Given the description of an element on the screen output the (x, y) to click on. 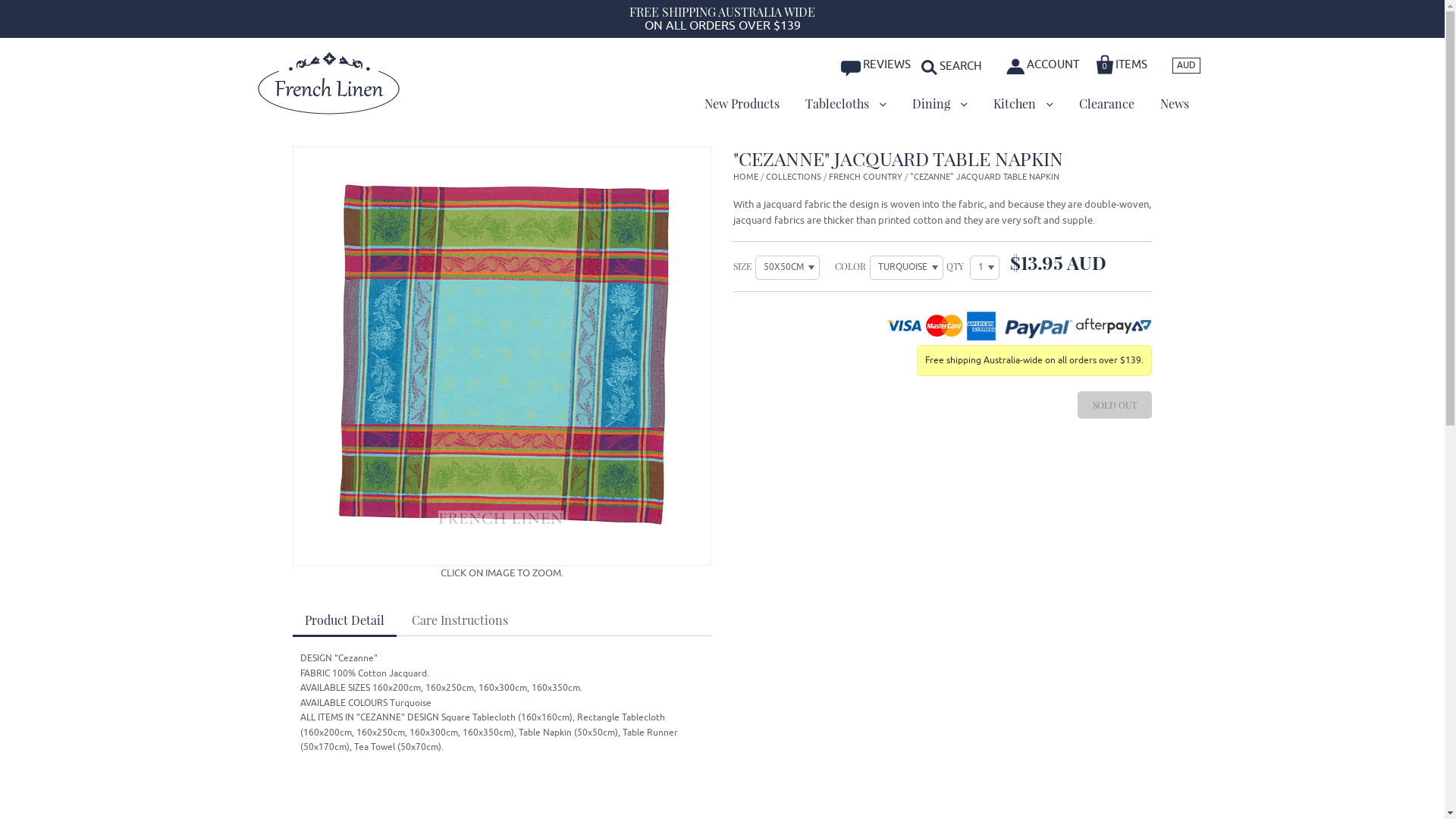
Tablecloths Element type: text (845, 103)
Clearance Element type: text (1106, 103)
COLLECTIONS Element type: text (793, 176)
REVIEWS Element type: text (876, 64)
Kitchen Element type: text (1022, 103)
News Element type: text (1173, 103)
Sold out Element type: text (1114, 404)
0
ITEMS Element type: text (1121, 61)
FRENCH COUNTRY Element type: text (865, 176)
HOME Element type: text (745, 176)
New Products Element type: text (741, 103)
ACCOUNT Element type: text (1042, 64)
Dining Element type: text (939, 103)
